Given the description of an element on the screen output the (x, y) to click on. 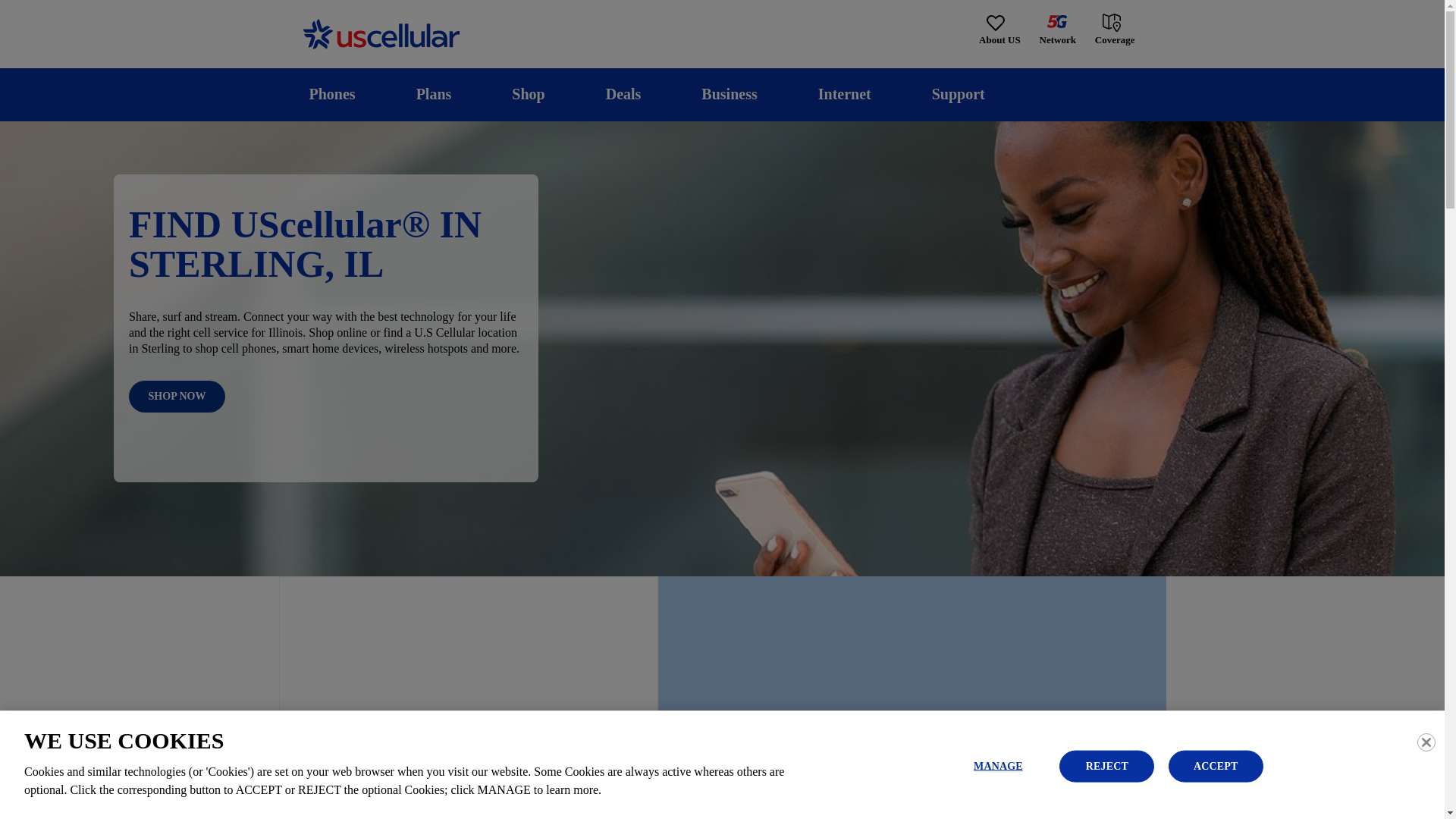
Support (957, 94)
Deals (623, 94)
Network (1057, 30)
Coverage (1115, 29)
SHOP NOW (177, 396)
Phones (332, 94)
Shop (528, 94)
Business (729, 94)
Plans (433, 94)
Internet (844, 94)
